Given the description of an element on the screen output the (x, y) to click on. 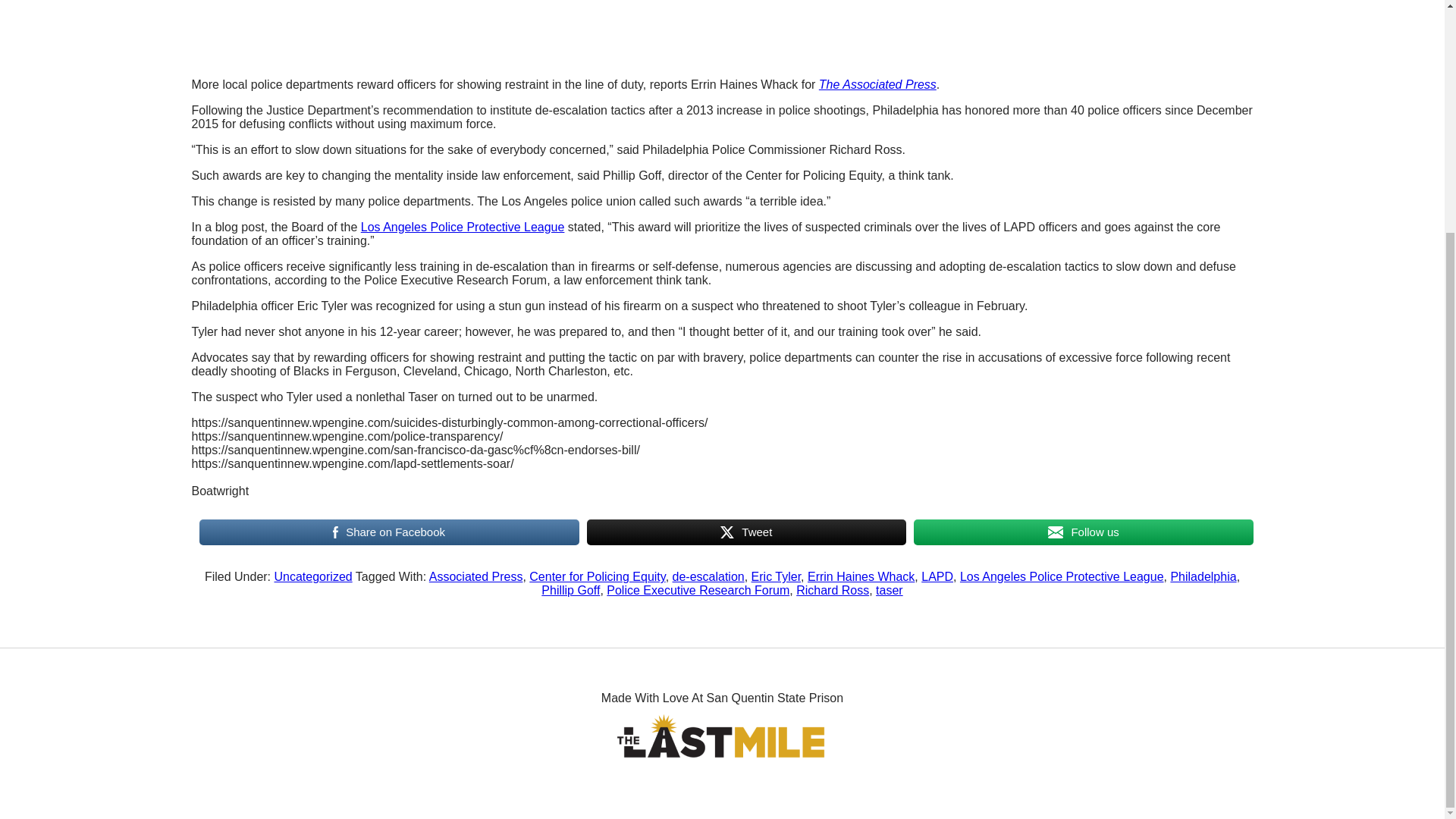
Police Executive Research Forum (698, 590)
Richard Ross (832, 590)
Follow us (1083, 532)
Eric Tyler (776, 576)
Share on Facebook (388, 532)
Uncategorized (313, 576)
Tweet (745, 532)
Phillip Goff (570, 590)
Associated Press (475, 576)
Los Angeles Police Protective League (462, 226)
